Given the description of an element on the screen output the (x, y) to click on. 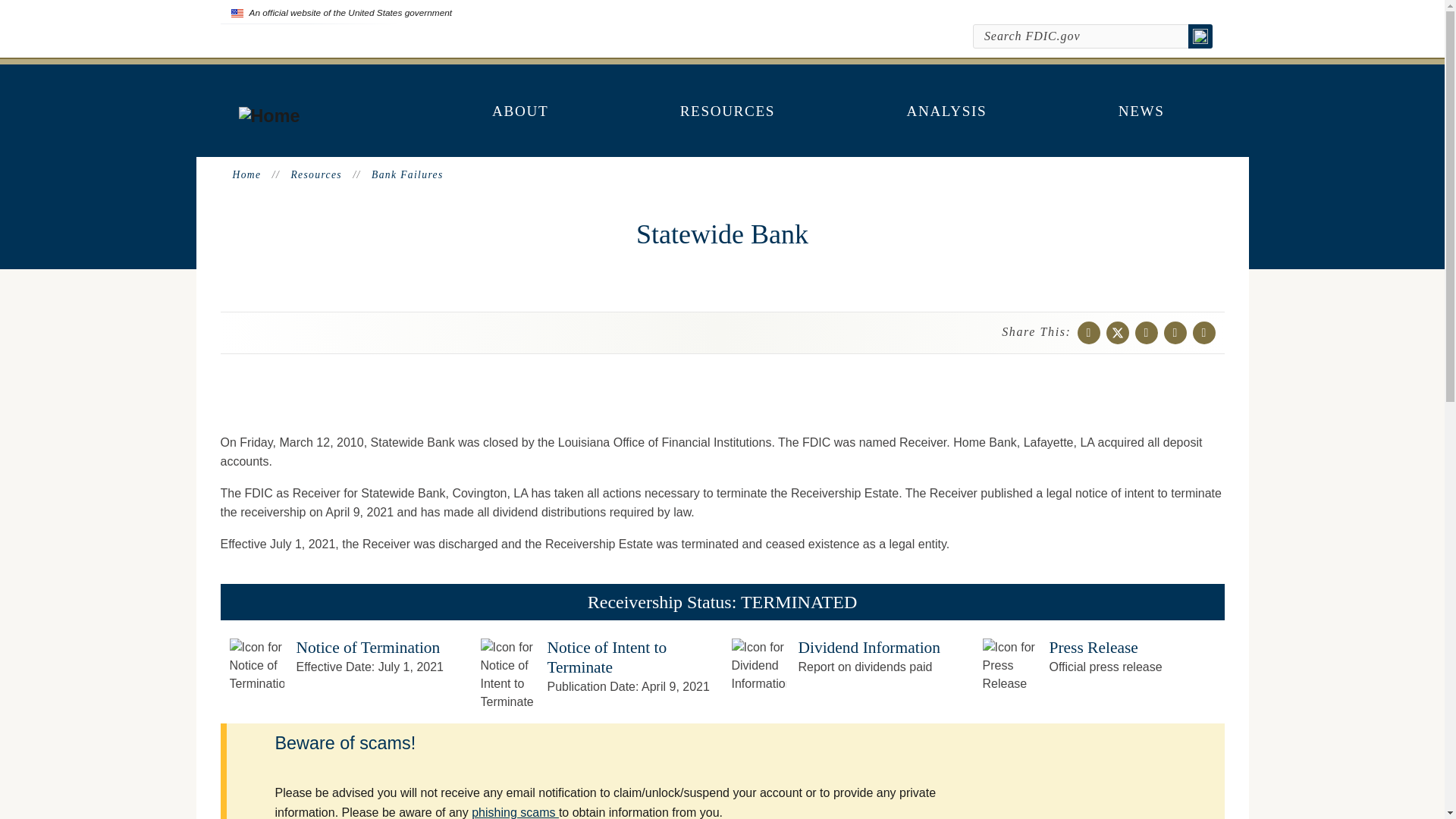
RESOURCES (727, 111)
Search FDIC.gov (1080, 36)
Home (268, 116)
Search FDIC.gov (1080, 36)
ABOUT (520, 111)
